Given the description of an element on the screen output the (x, y) to click on. 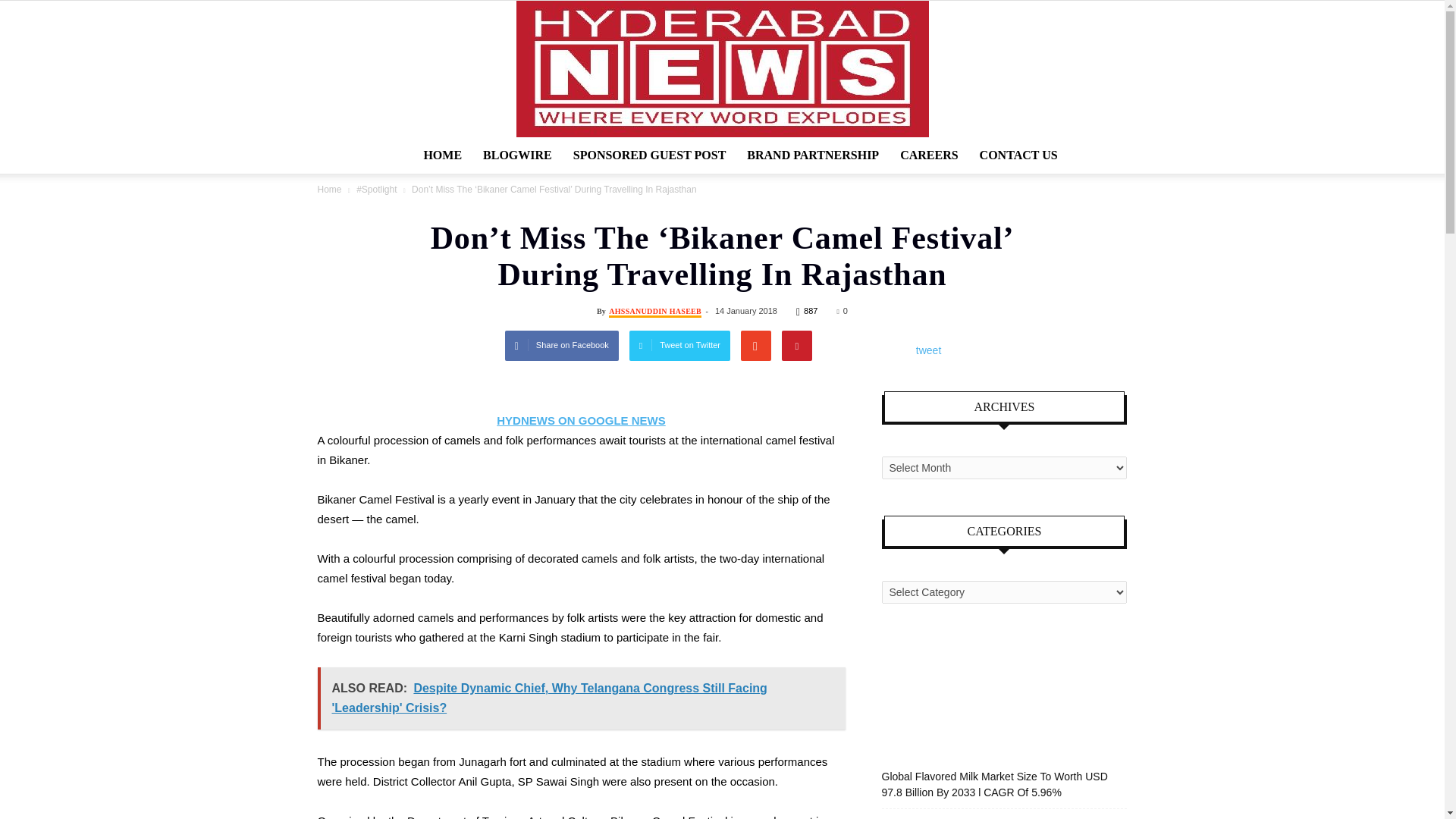
CONTACT US (1018, 155)
Share on Facebook (561, 345)
0 (842, 310)
BRAND PARTNERSHIP (812, 155)
SPONSORED GUEST POST (649, 155)
HOME (441, 155)
Home (328, 189)
CAREERS (928, 155)
Tweet on Twitter (679, 345)
Hyderabad News (721, 68)
AHSSANUDDIN HASEEB (654, 312)
BLOGWIRE (516, 155)
